Given the description of an element on the screen output the (x, y) to click on. 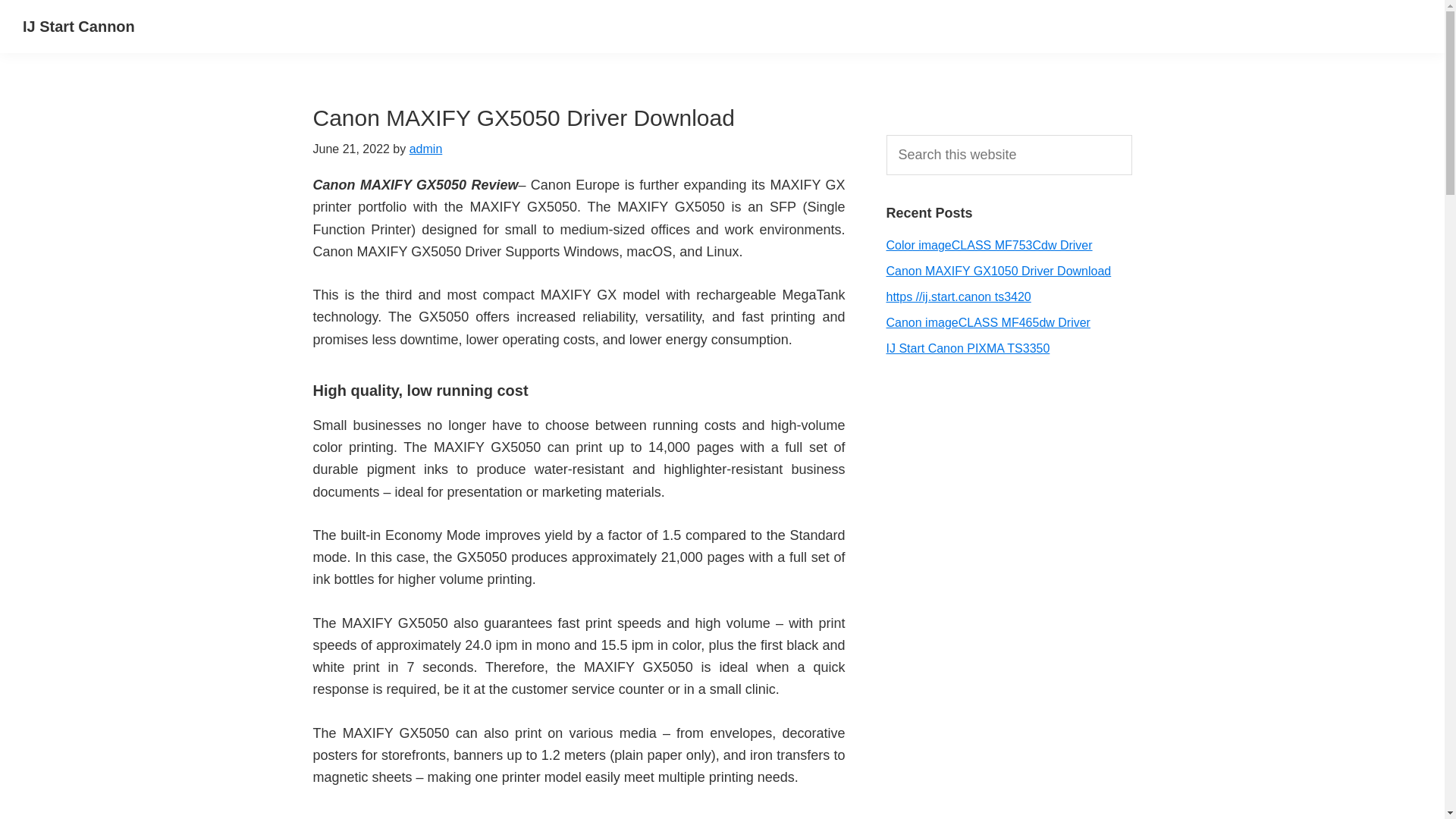
IJ Start Cannon (79, 26)
Canon imageCLASS MF465dw Driver (987, 322)
Canon MAXIFY GX1050 Driver Download (997, 270)
IJ Start Canon PIXMA TS3350 (967, 348)
admin (425, 148)
Color imageCLASS MF753Cdw Driver (988, 245)
